Given the description of an element on the screen output the (x, y) to click on. 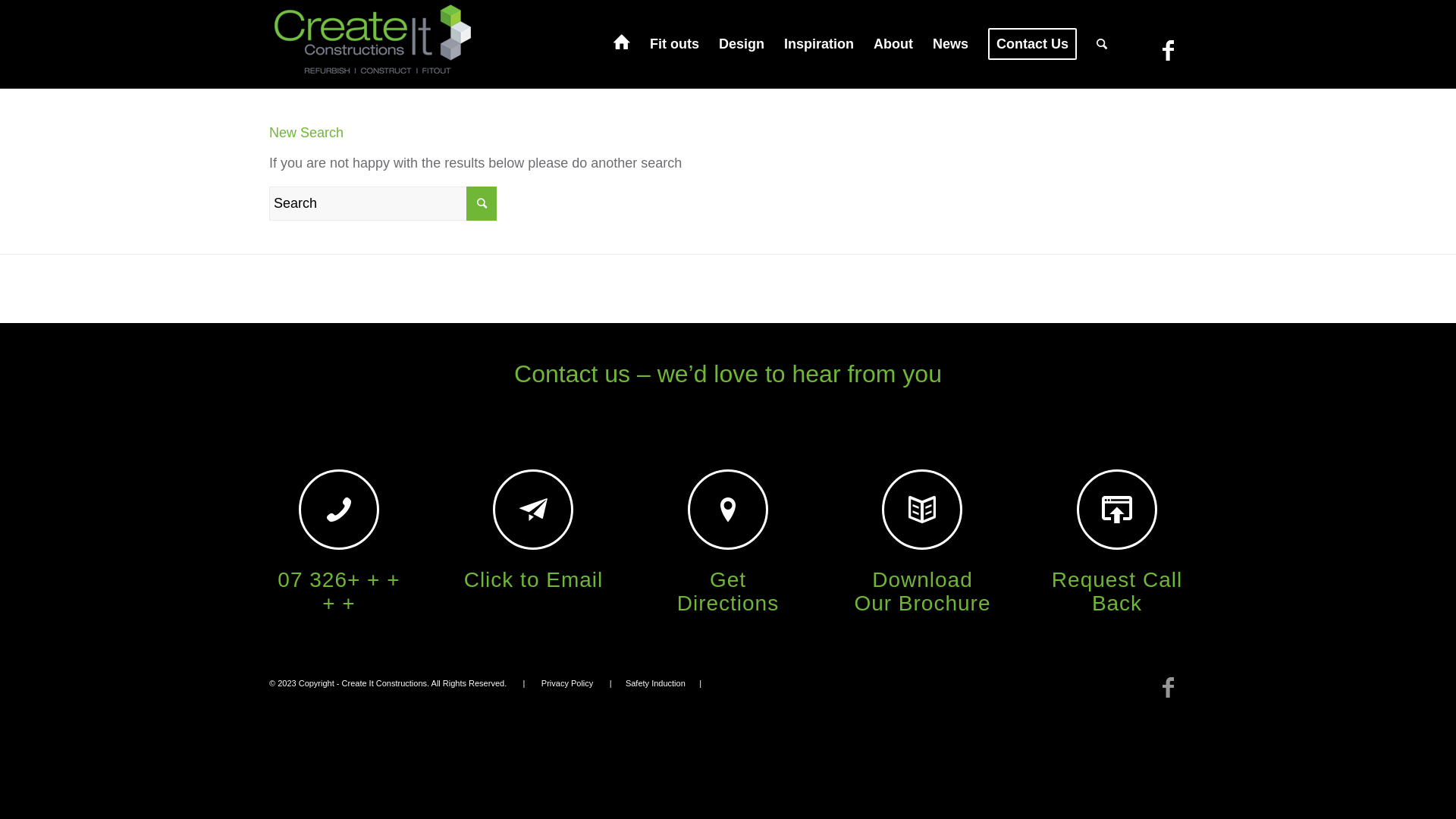
Get Directions Element type: text (727, 591)
Fit outs Element type: text (674, 43)
Click to call on mobile Element type: hover (338, 509)
Contact Us Element type: text (1032, 43)
Safety Induction Element type: text (655, 682)
Design Element type: text (741, 43)
Click to Email Element type: text (533, 579)
Facebook Element type: hover (1167, 687)
Facebook Element type: hover (1167, 50)
07 326 Element type: text (338, 591)
News Element type: text (950, 43)
Inspiration Element type: text (818, 43)
Download Our Brochure Element type: text (921, 591)
Privacy Policy Element type: text (567, 682)
Request Call Back Element type: text (1116, 591)
About Element type: text (892, 43)
